Given the description of an element on the screen output the (x, y) to click on. 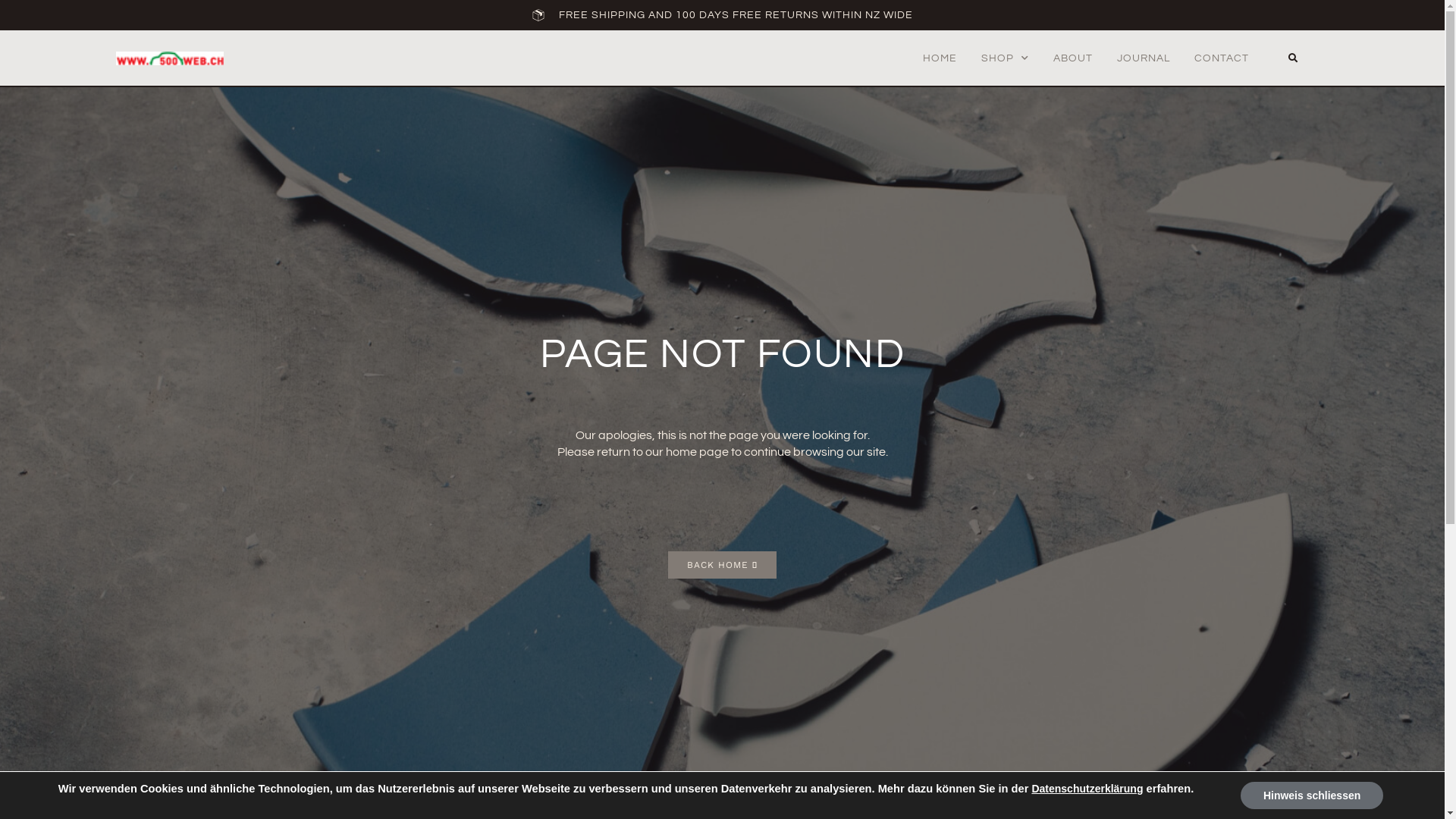
HOME Element type: text (939, 58)
CONTACT Element type: text (1221, 58)
Hinweis schliessen Element type: text (1311, 795)
ABOUT Element type: text (1072, 58)
SHOP Element type: text (1005, 58)
JOURNAL Element type: text (1143, 58)
